Given the description of an element on the screen output the (x, y) to click on. 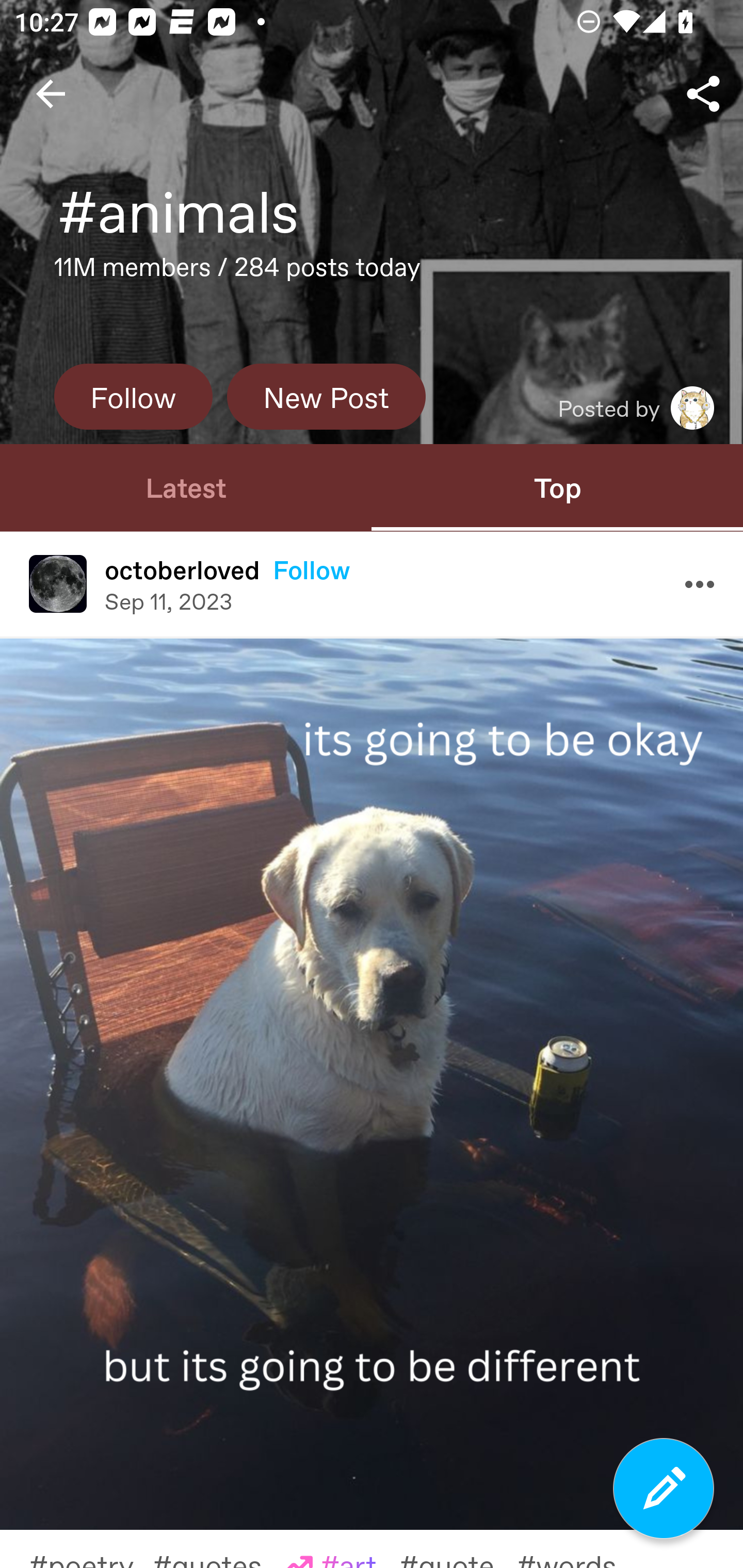
Navigate up (50, 93)
11M members /  284 posts today (237, 272)
Follow (133, 396)
New Post (326, 396)
Latest (185, 486)
Follow (311, 569)
Compose a new post (663, 1488)
